Given the description of an element on the screen output the (x, y) to click on. 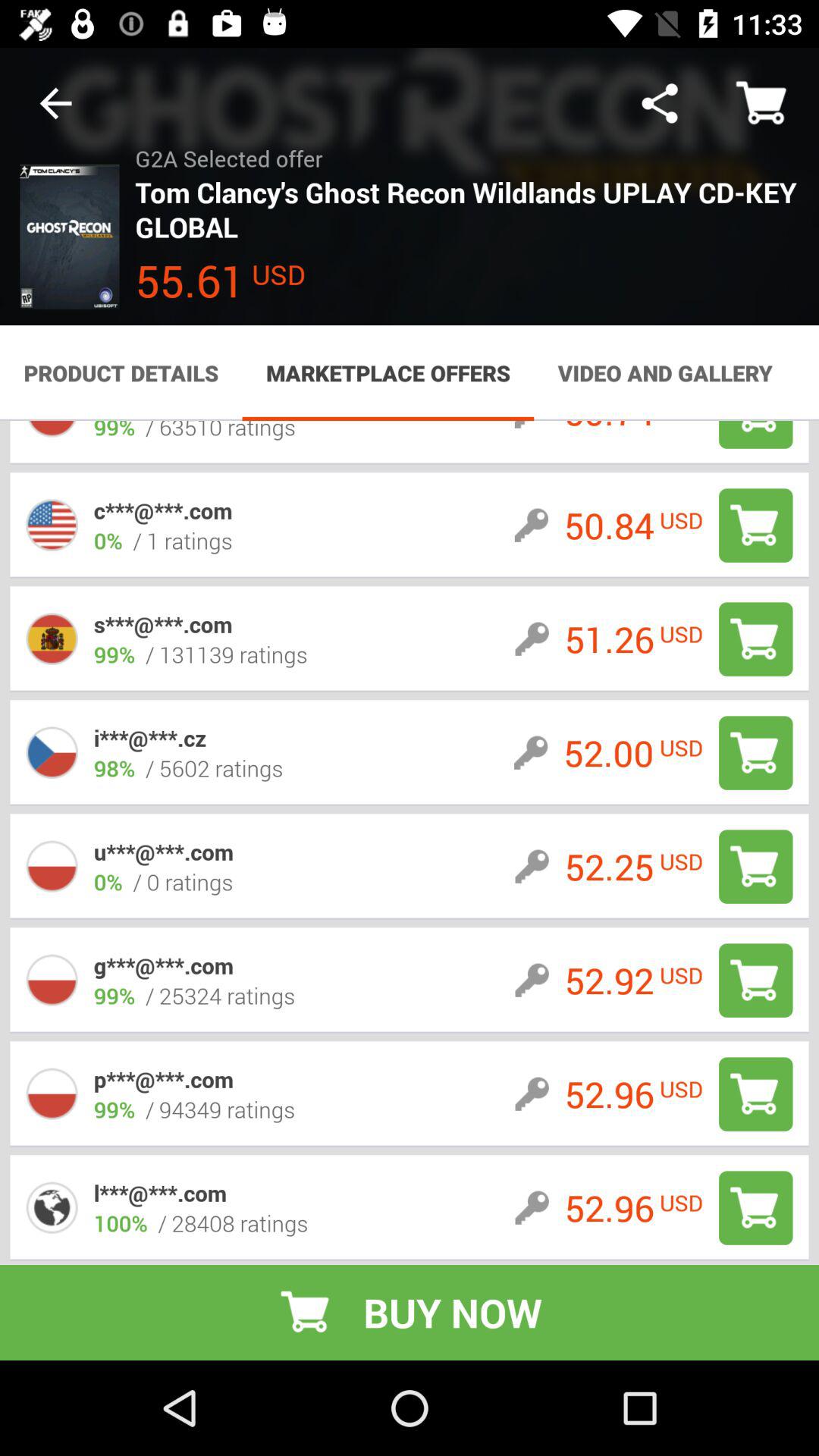
add item to cart (755, 639)
